Given the description of an element on the screen output the (x, y) to click on. 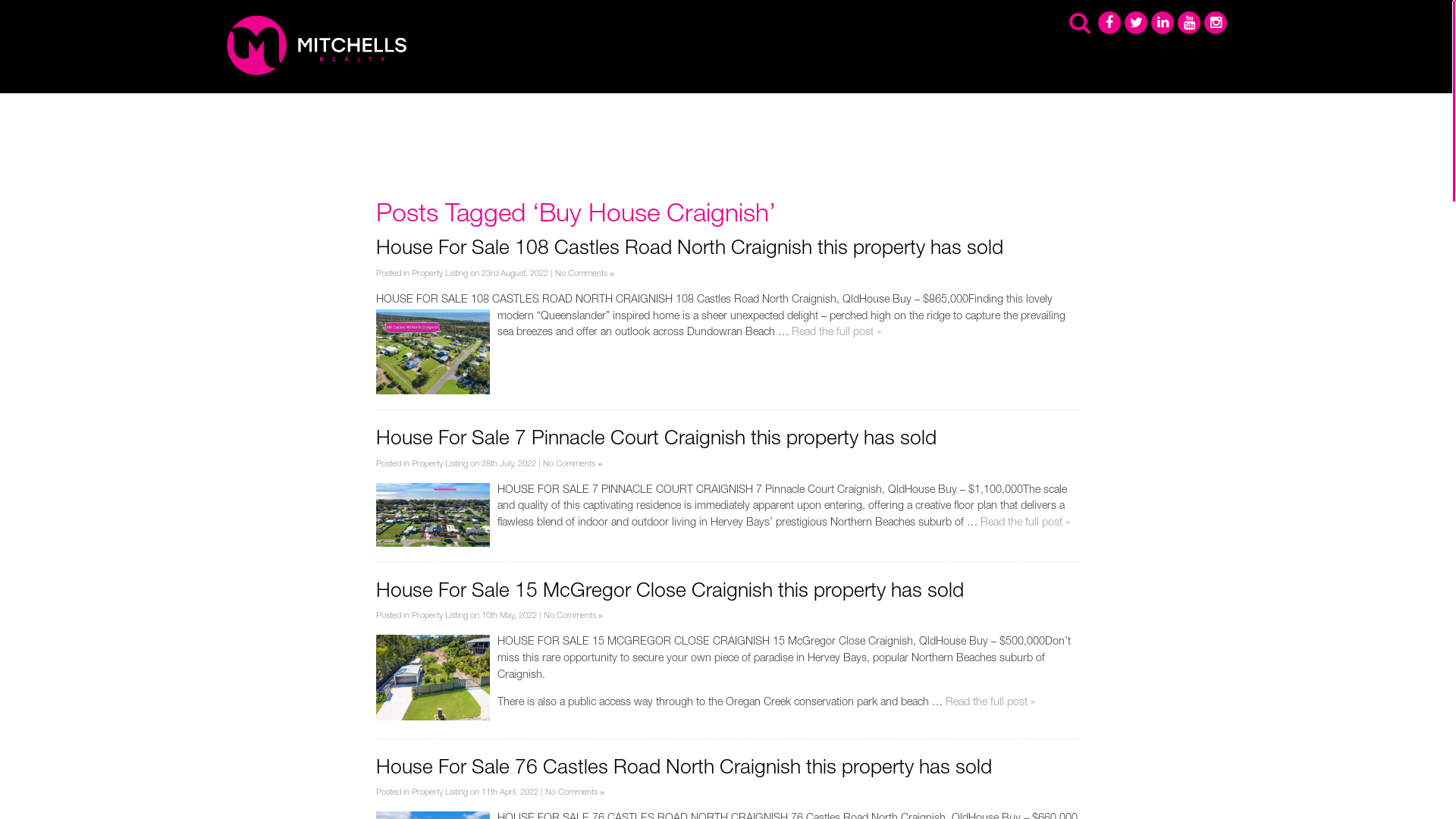
Property Listing Element type: text (439, 615)
Property Listing Element type: text (439, 273)
Property Listing Element type: text (439, 464)
Property Listing Element type: text (439, 792)
Mitchells Realty - How Good Is Hervey Bay Element type: hover (319, 45)
